Given the description of an element on the screen output the (x, y) to click on. 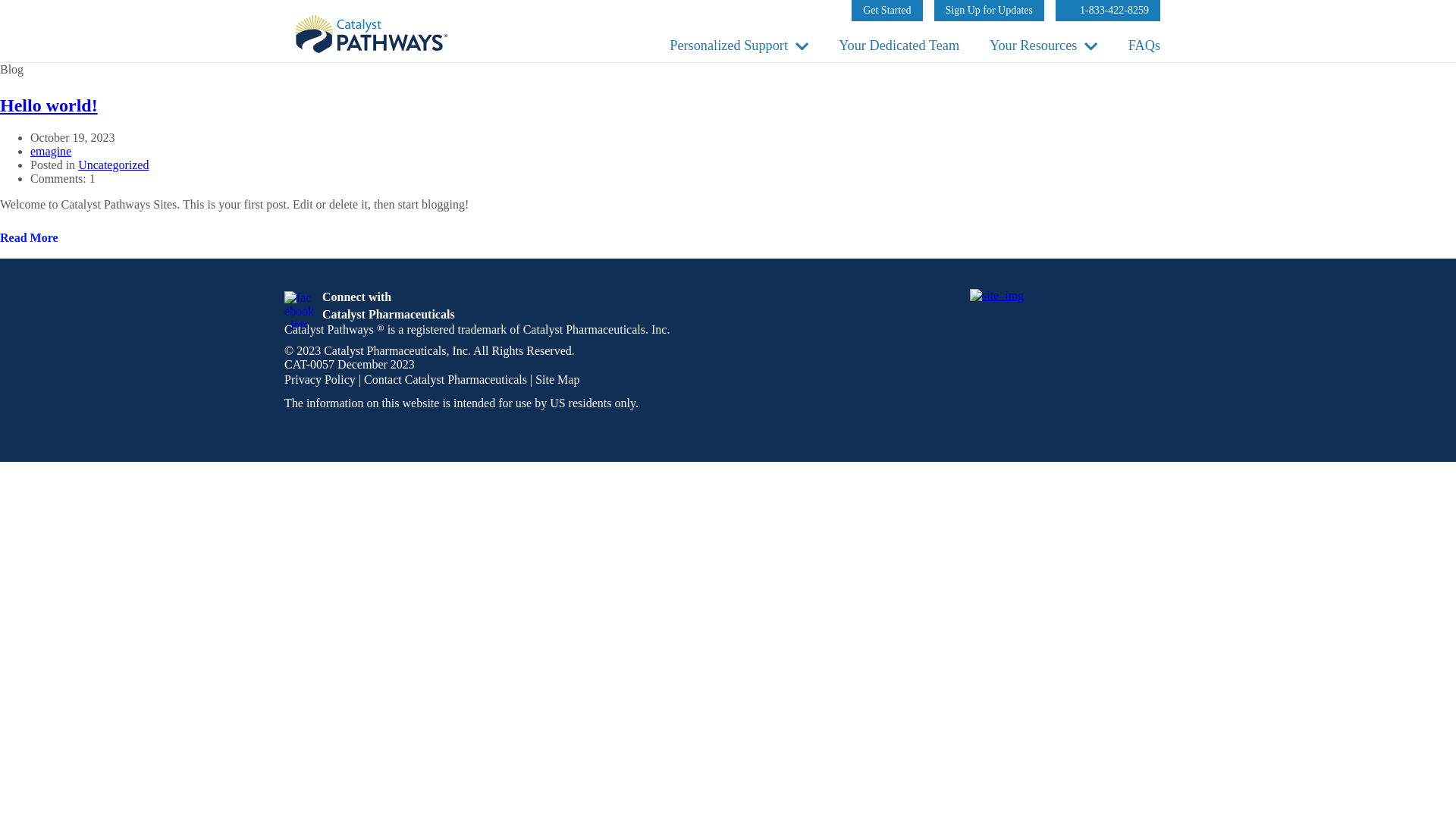
Your Dedicated Team (898, 45)
Your Resources (1033, 45)
emagine (50, 151)
Uncategorized (113, 164)
Get Started (886, 10)
Site Map (557, 379)
Read More (368, 306)
FAQs (40, 238)
Sign Up for Updates (1144, 45)
1-833-422-8259 (989, 10)
Personalized Support (1107, 10)
Hello world! (728, 45)
